Given the description of an element on the screen output the (x, y) to click on. 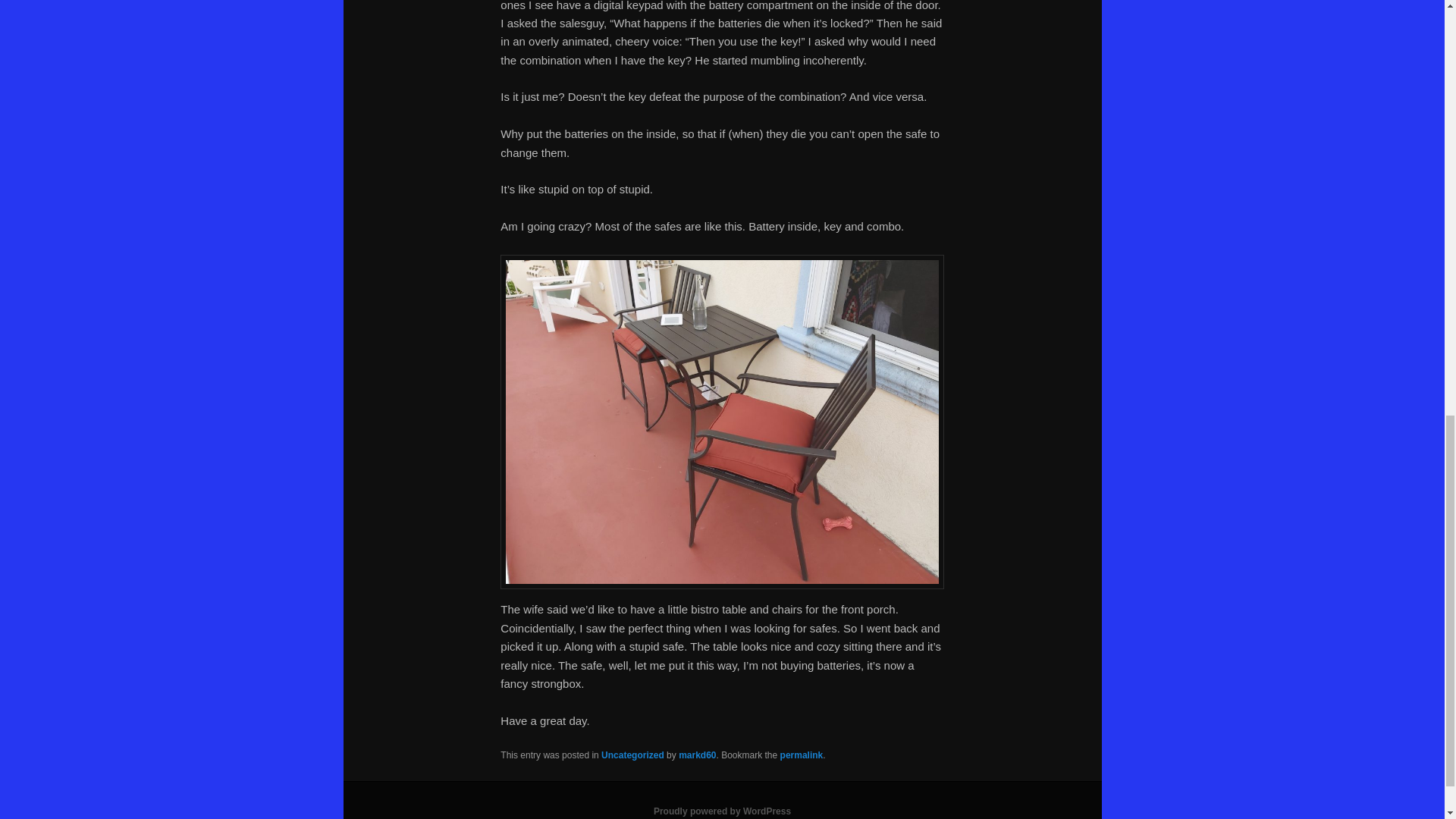
Semantic Personal Publishing Platform (721, 810)
markd60 (697, 755)
permalink (802, 755)
Permalink to Crazy? Stupid? Or Just Me? (802, 755)
Proudly powered by WordPress (721, 810)
Uncategorized (632, 755)
